Given the description of an element on the screen output the (x, y) to click on. 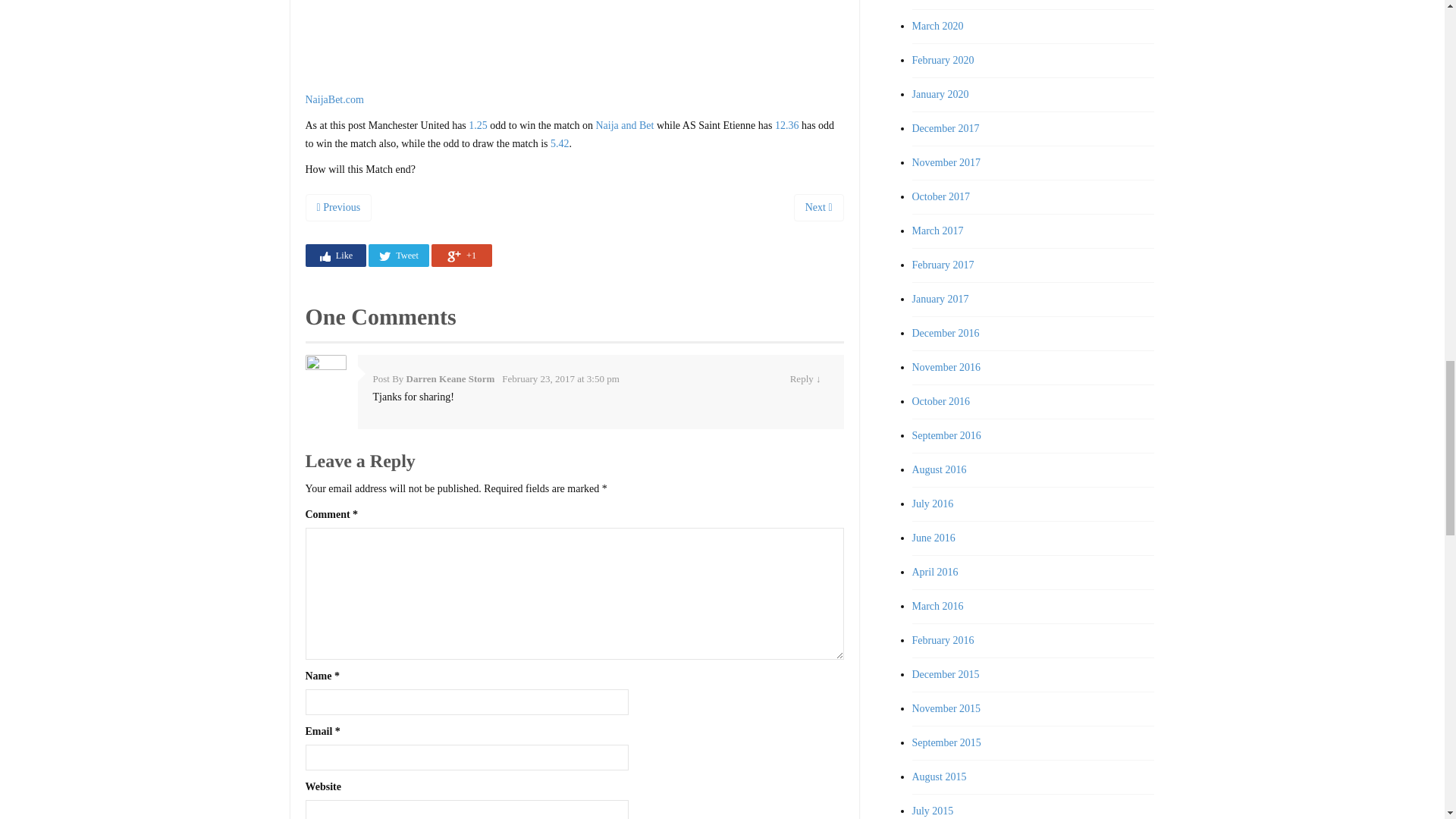
February 23, 2017 at 3:50 pm (561, 378)
Previous (337, 207)
Like (334, 255)
Next (818, 207)
Naija and Bet (624, 125)
Tweet (398, 255)
12.36 (786, 125)
5.42 (559, 143)
1.25 (477, 125)
Share on Facebook (334, 255)
Share on Twitter (398, 255)
Reply (801, 378)
Share on Google Plus (461, 255)
NaijaBet.com (333, 99)
